Given the description of an element on the screen output the (x, y) to click on. 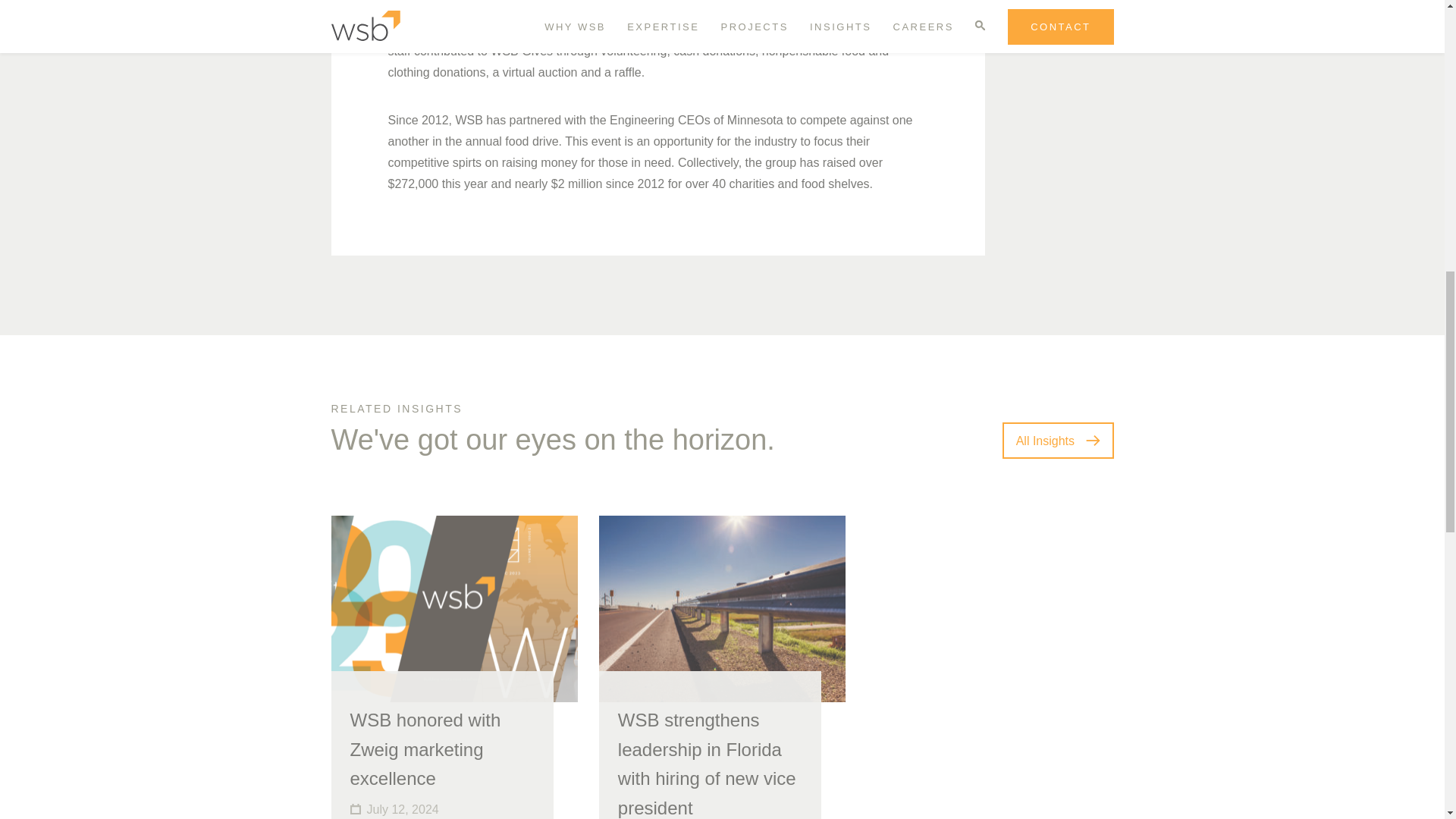
WSB honored with Zweig marketing excellence (425, 749)
All Insights (1058, 440)
